Given the description of an element on the screen output the (x, y) to click on. 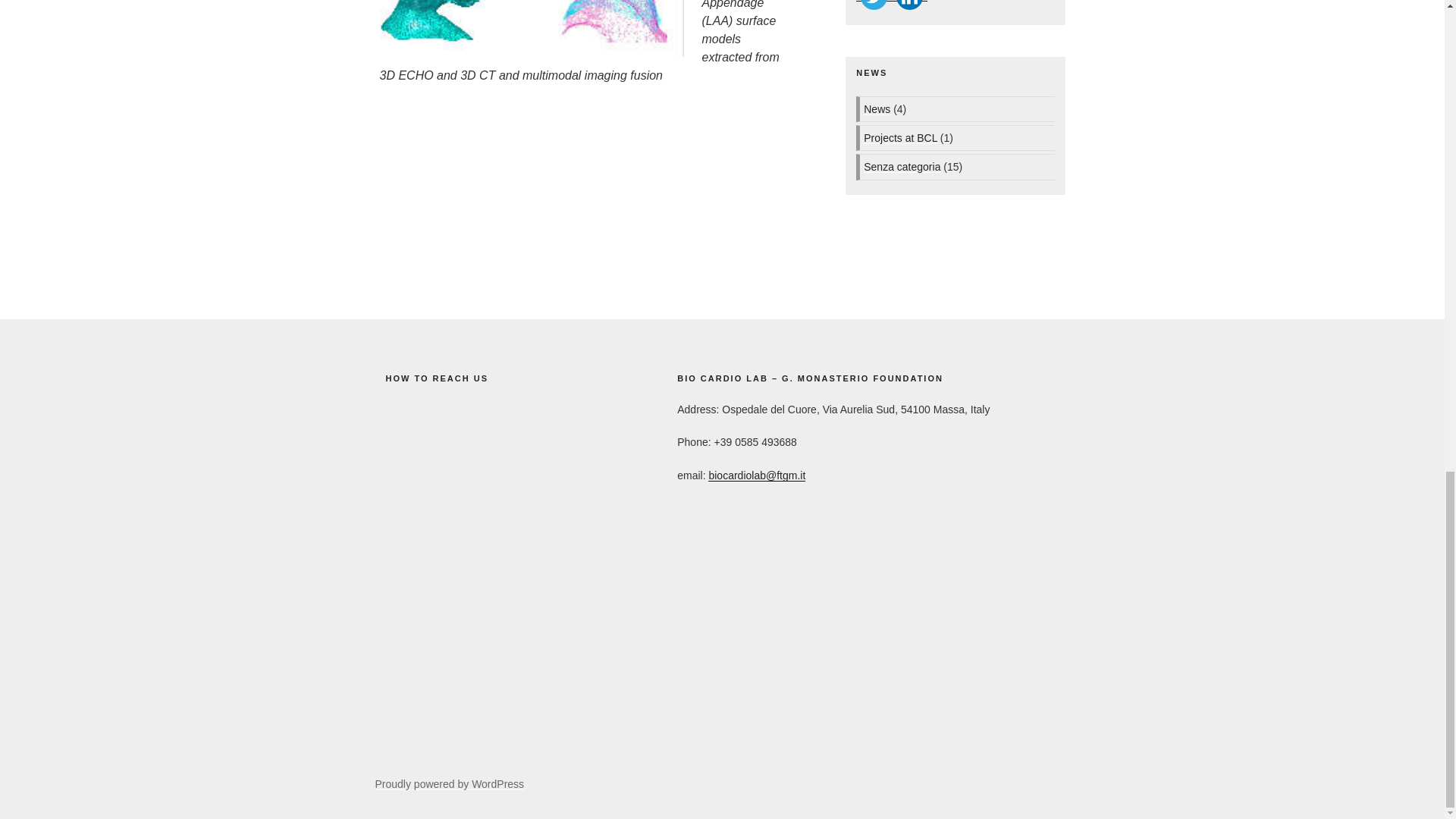
Senza categoria (901, 166)
Projects at BCL (900, 137)
linkedin (909, 7)
Proudly powered by WordPress (449, 784)
News (876, 109)
twitter (873, 7)
